Given the description of an element on the screen output the (x, y) to click on. 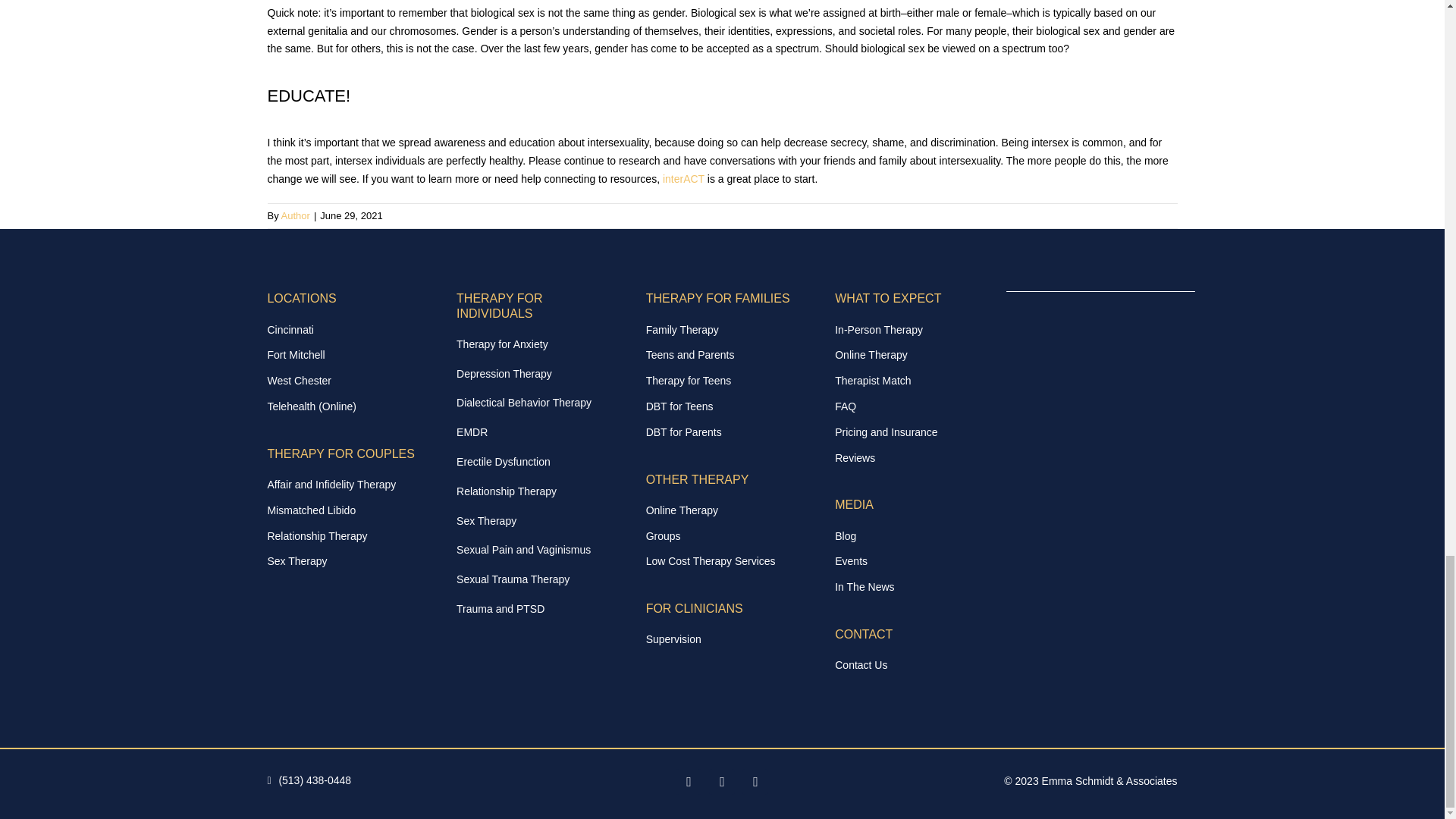
Posts by Author (295, 215)
